Given the description of an element on the screen output the (x, y) to click on. 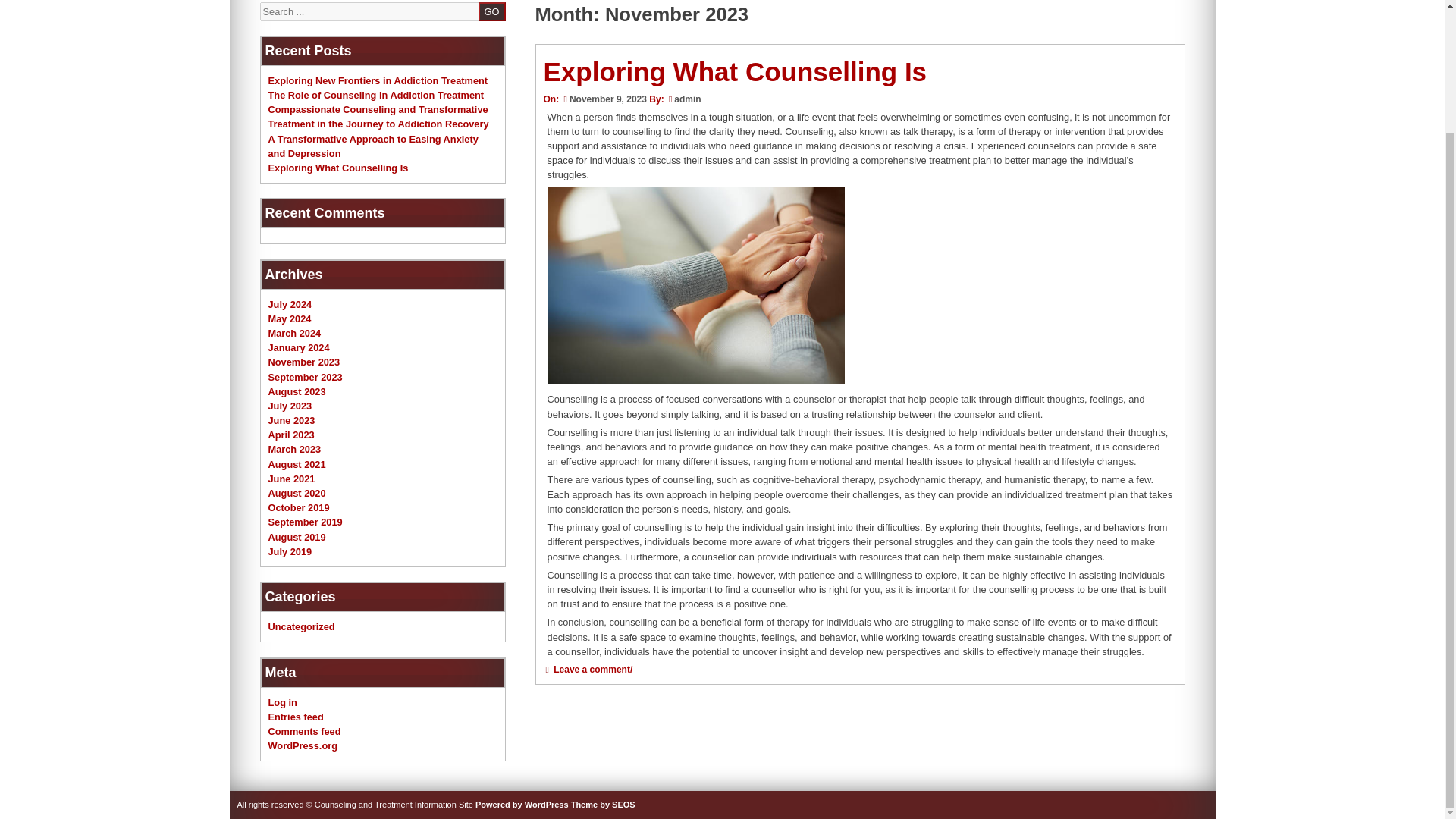
Log in (282, 701)
January 2024 (298, 347)
Comments feed (303, 731)
July 2024 (290, 304)
September 2019 (304, 521)
Exploring What Counselling Is (338, 167)
Exploring What Counselling Is (734, 71)
March 2023 (294, 449)
August 2020 (296, 492)
GO (492, 10)
